Given the description of an element on the screen output the (x, y) to click on. 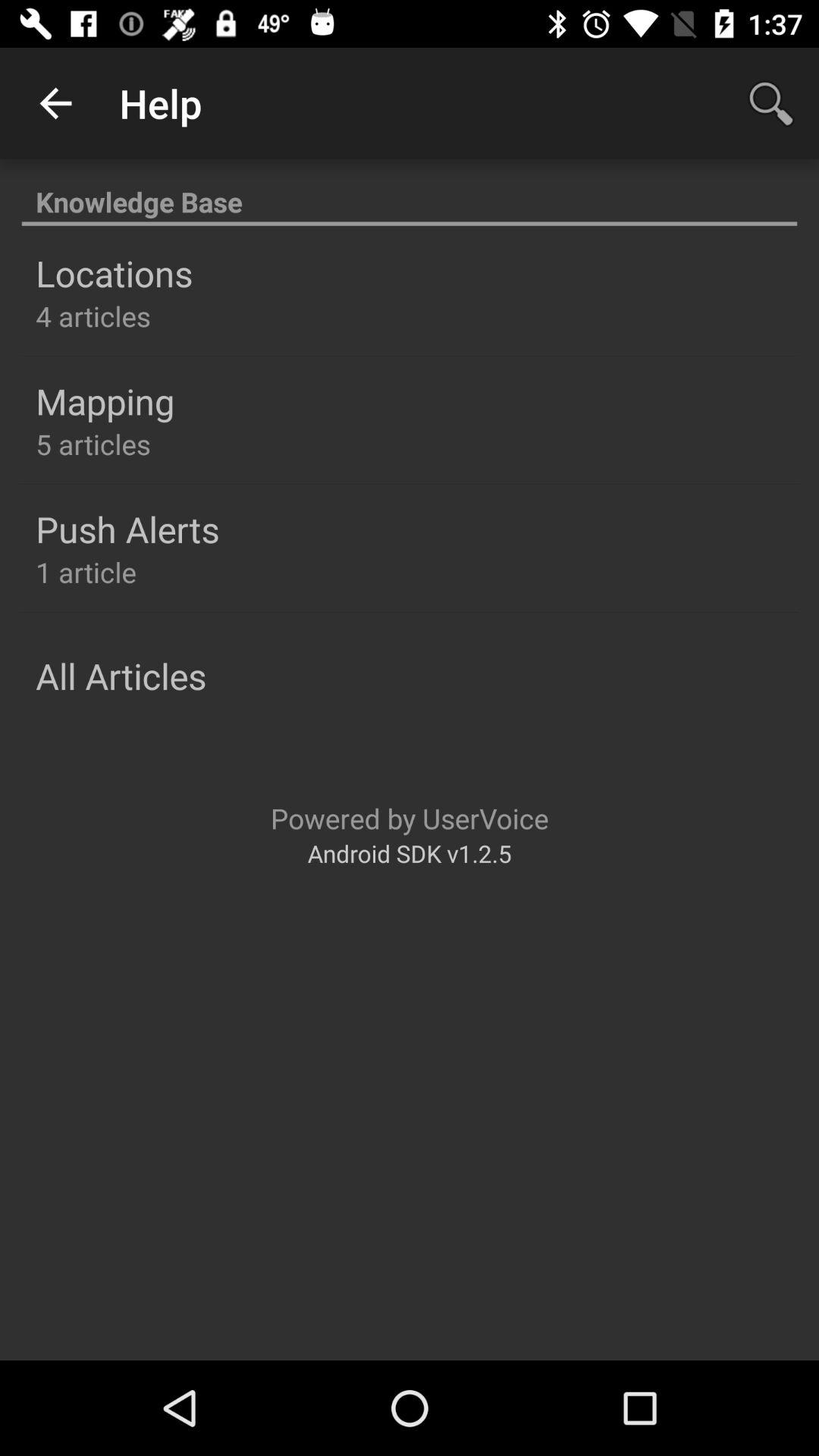
flip until the mapping (104, 401)
